Given the description of an element on the screen output the (x, y) to click on. 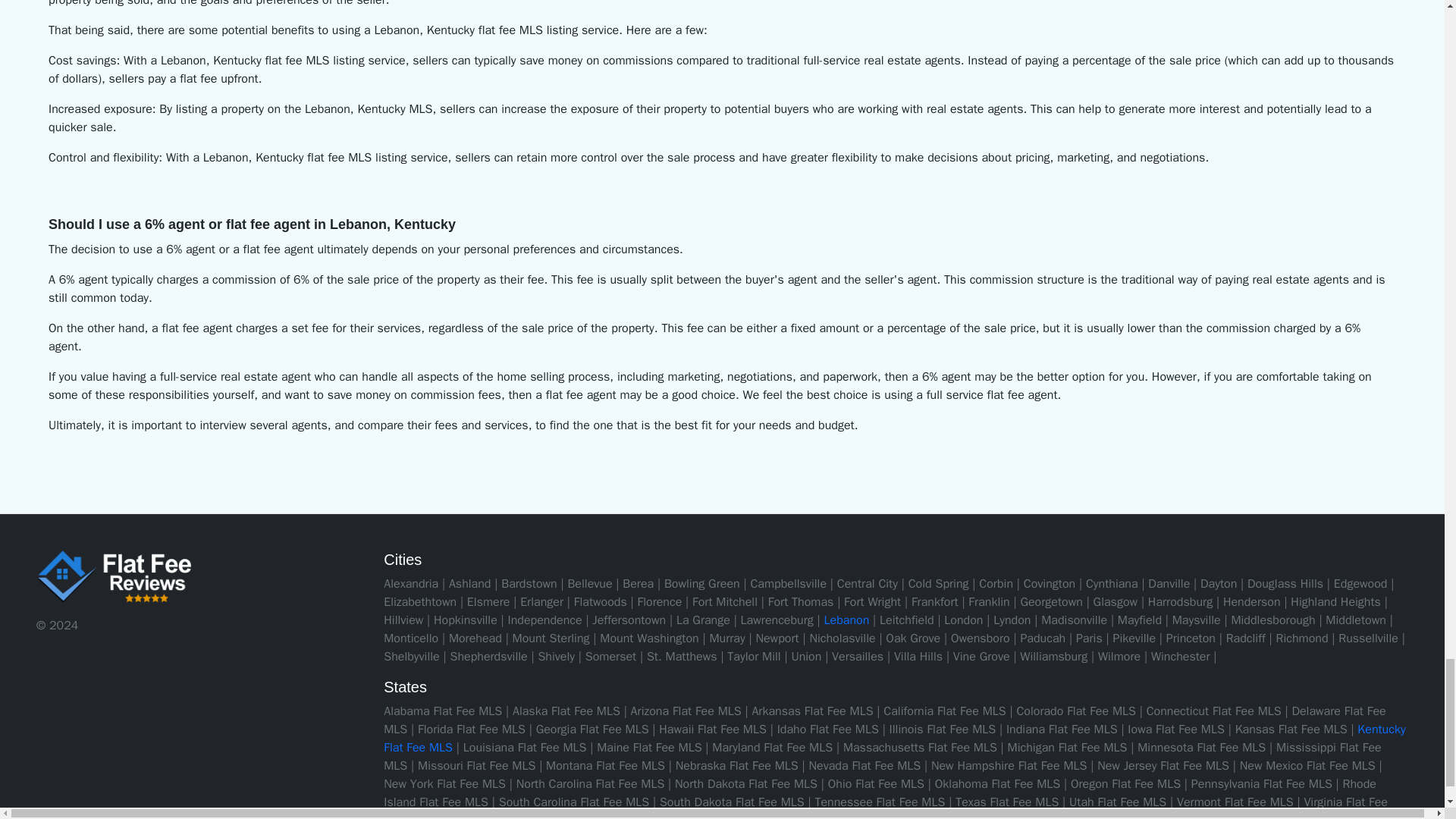
Campbellsville (788, 583)
Alexandria (411, 583)
Ashland (470, 583)
Bellevue (589, 583)
Central City (867, 583)
Bowling Green (701, 583)
Bardstown (528, 583)
Berea (638, 583)
